Given the description of an element on the screen output the (x, y) to click on. 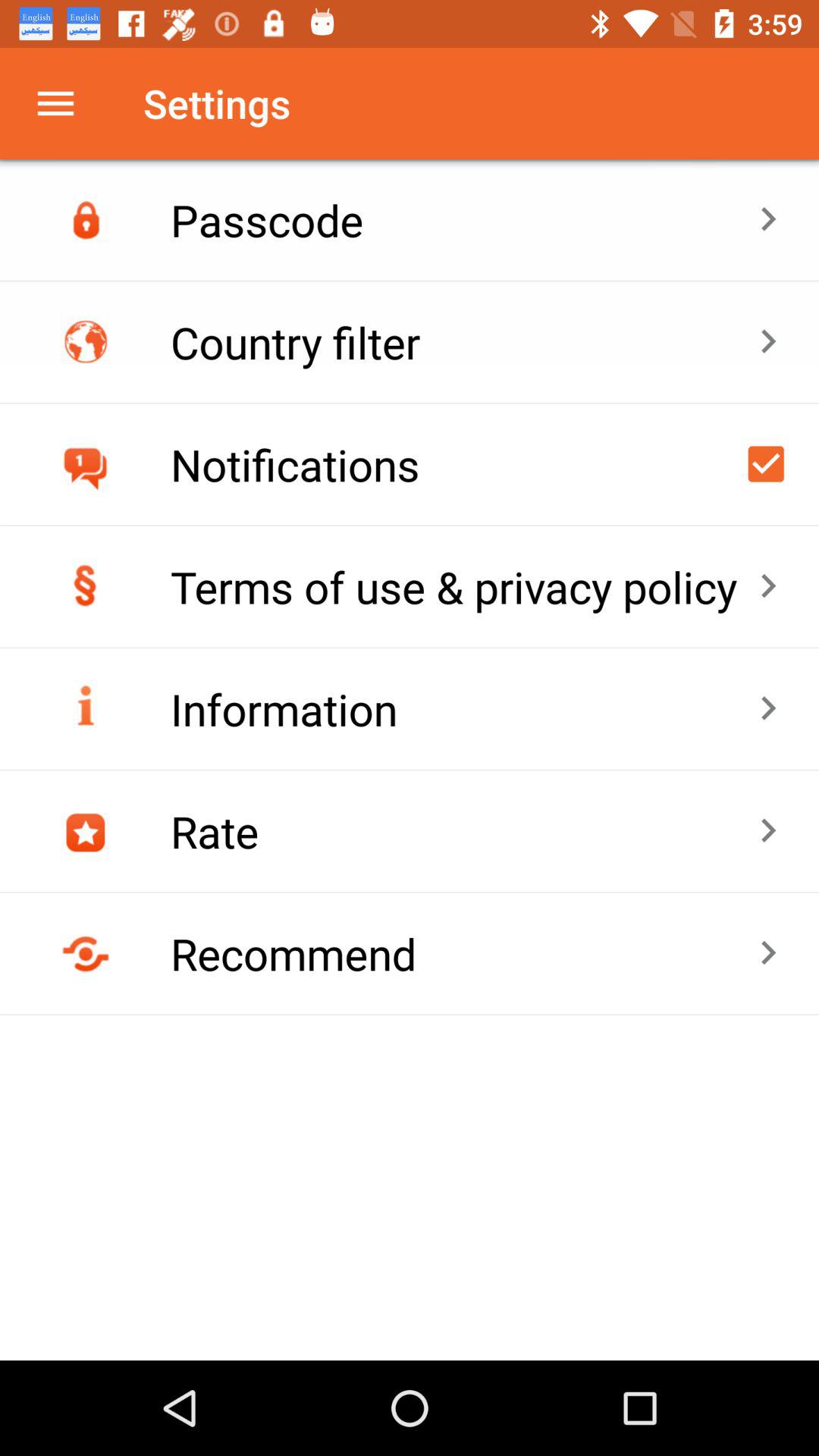
flip to the rate (464, 830)
